Given the description of an element on the screen output the (x, y) to click on. 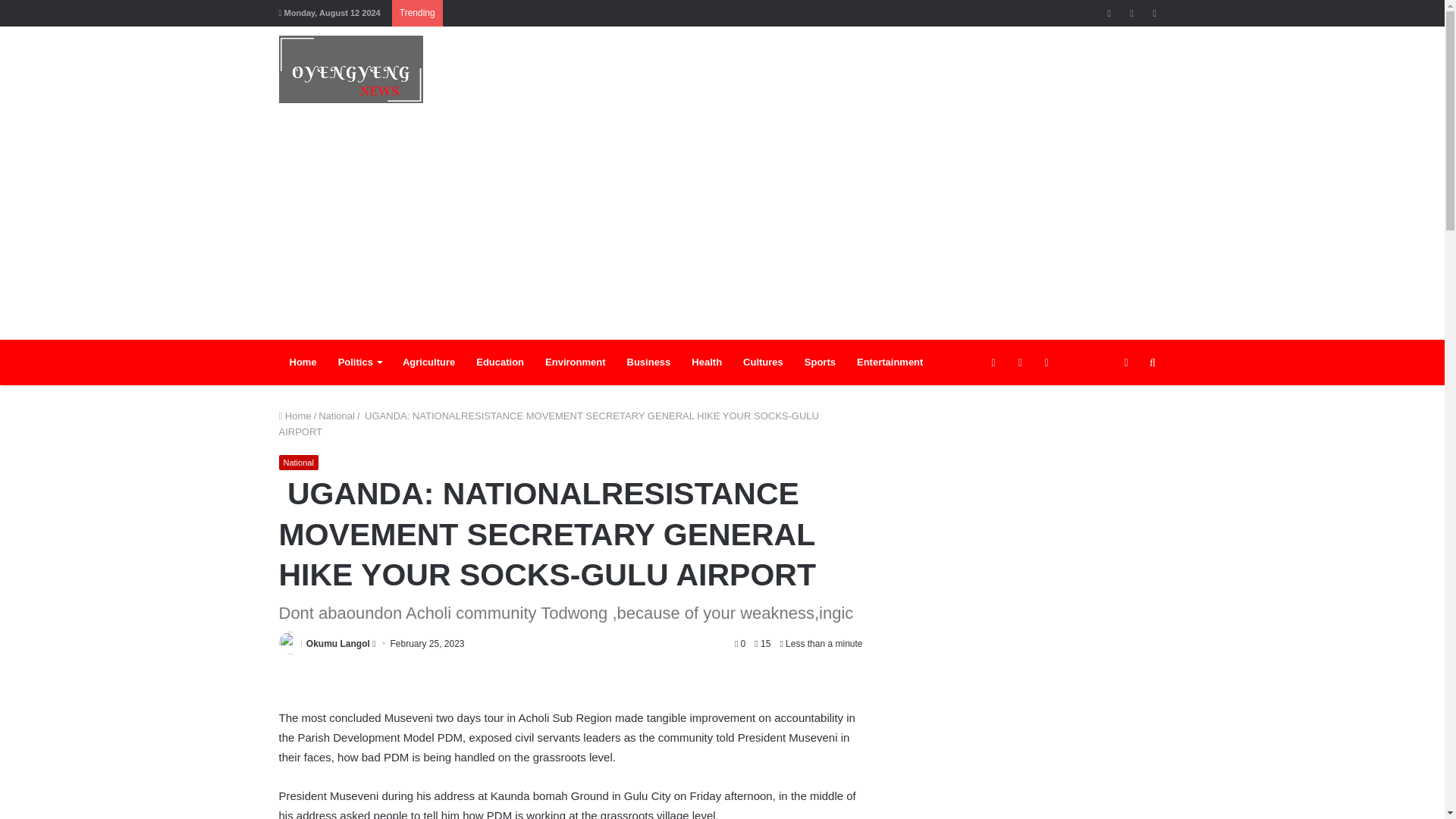
Home (303, 361)
National (298, 462)
Environment (574, 361)
Health (706, 361)
Politics (359, 361)
Entertainment (889, 361)
Sports (819, 361)
Okumu Langol (337, 643)
Oyeng-Yeng News (351, 69)
